Given the description of an element on the screen output the (x, y) to click on. 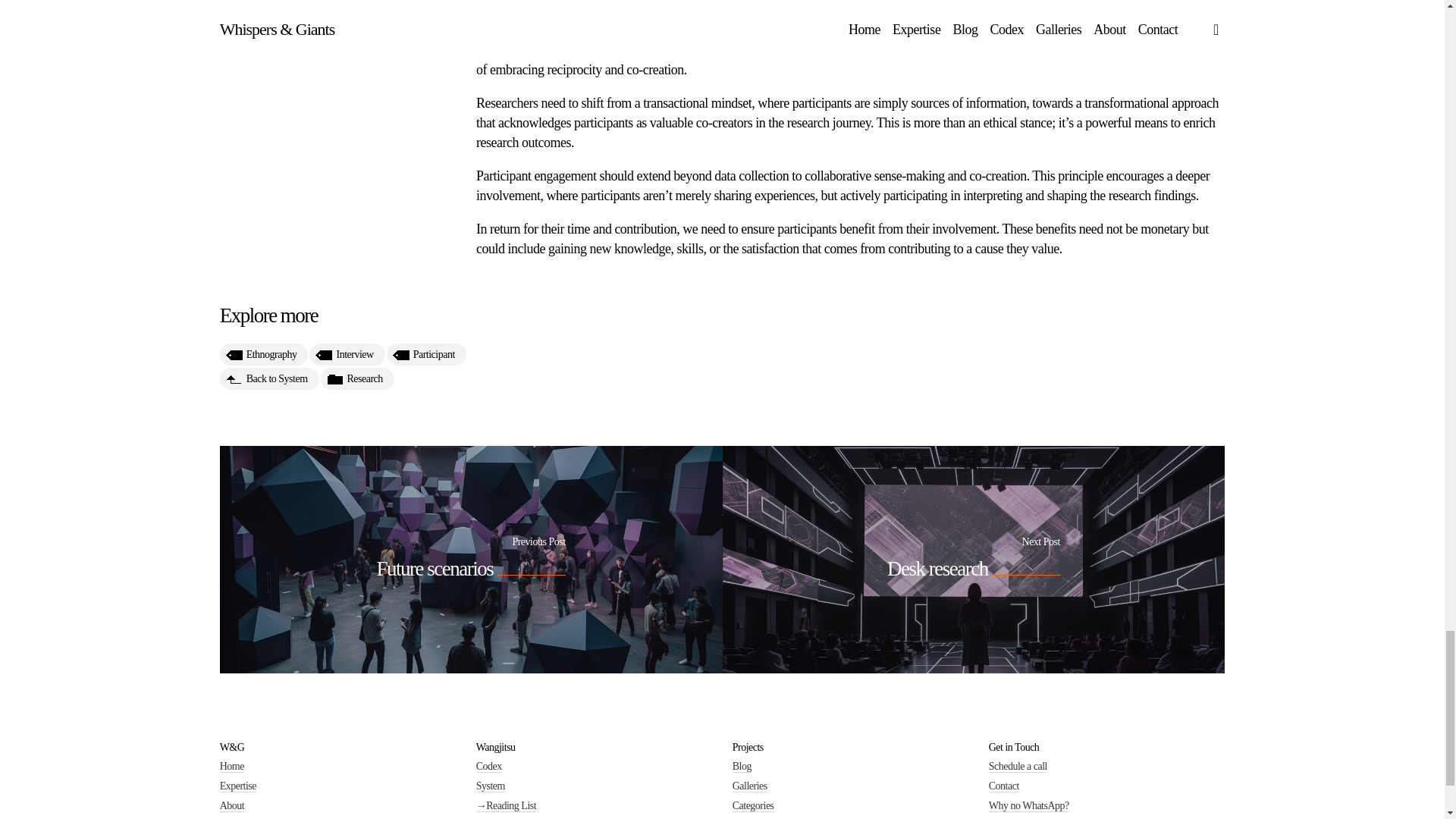
Schedule a call (1017, 766)
About (231, 806)
Codex (489, 766)
Why no WhatsApp? (1028, 806)
Ethnography (263, 375)
Research (357, 391)
System (490, 786)
Categories (753, 806)
Expertise (237, 786)
Galleries (749, 786)
Blog (741, 766)
Participant (426, 371)
Home (231, 766)
Interview (346, 372)
Back to System (268, 393)
